Given the description of an element on the screen output the (x, y) to click on. 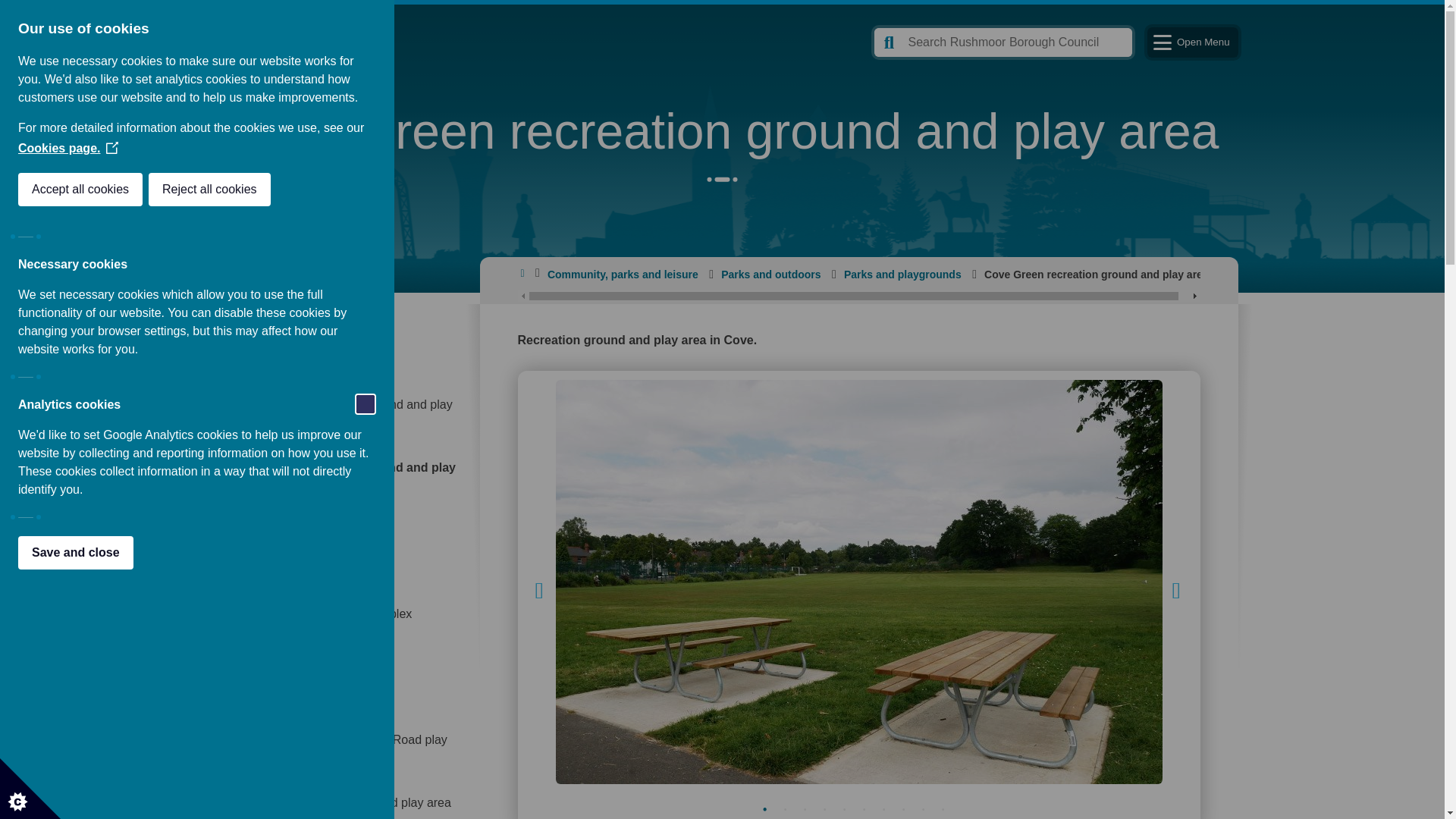
Search (1002, 41)
Open Menu (1192, 42)
Save and close (18, 552)
Reject all cookies (69, 189)
